Given the description of an element on the screen output the (x, y) to click on. 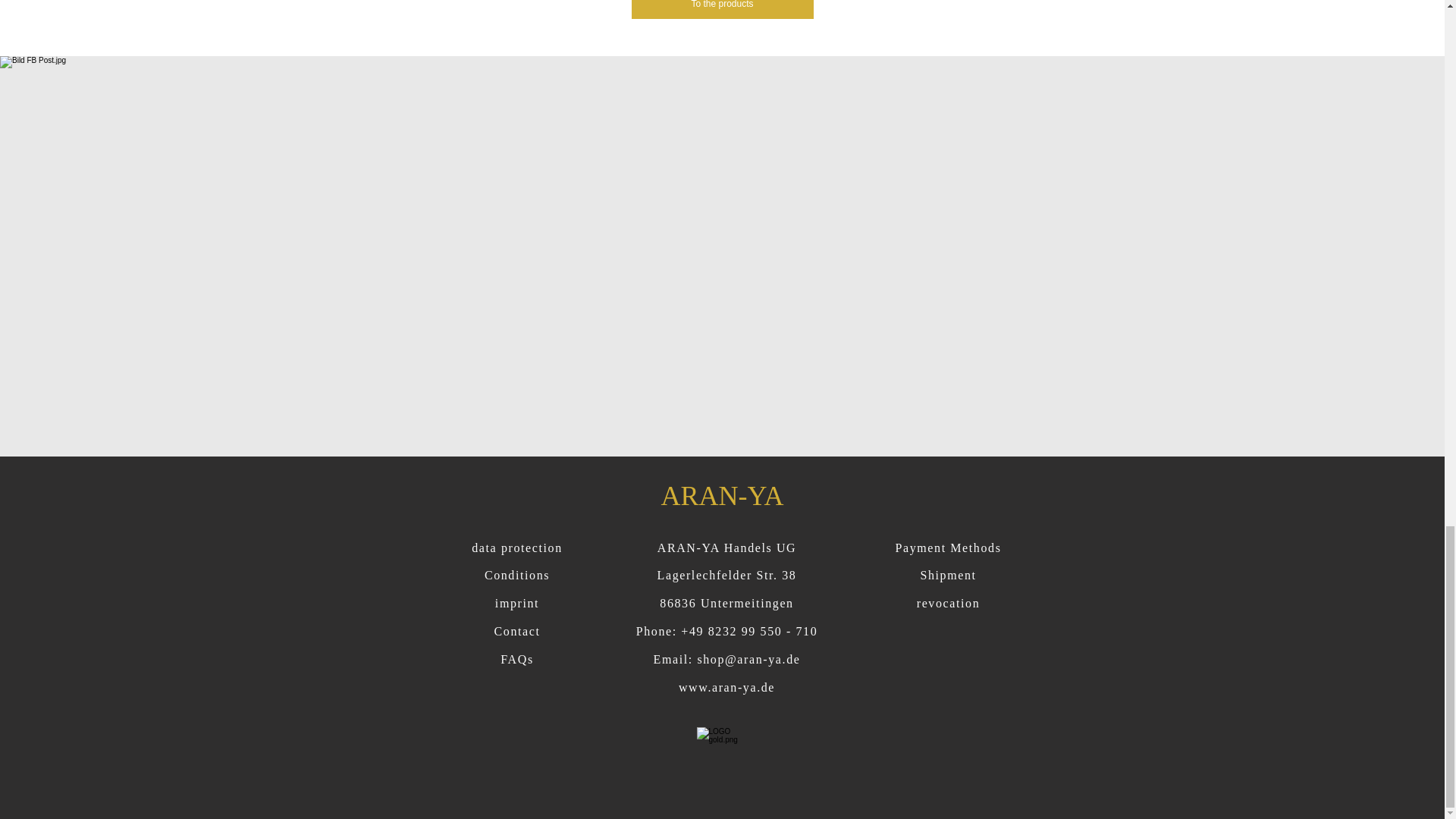
www.aran-ya.de (726, 686)
data protection (516, 547)
Payment Methods (948, 547)
Contact (517, 631)
revocation (948, 603)
Conditions (517, 574)
To the products (721, 9)
imprint (516, 603)
Shipment (947, 574)
